Given the description of an element on the screen output the (x, y) to click on. 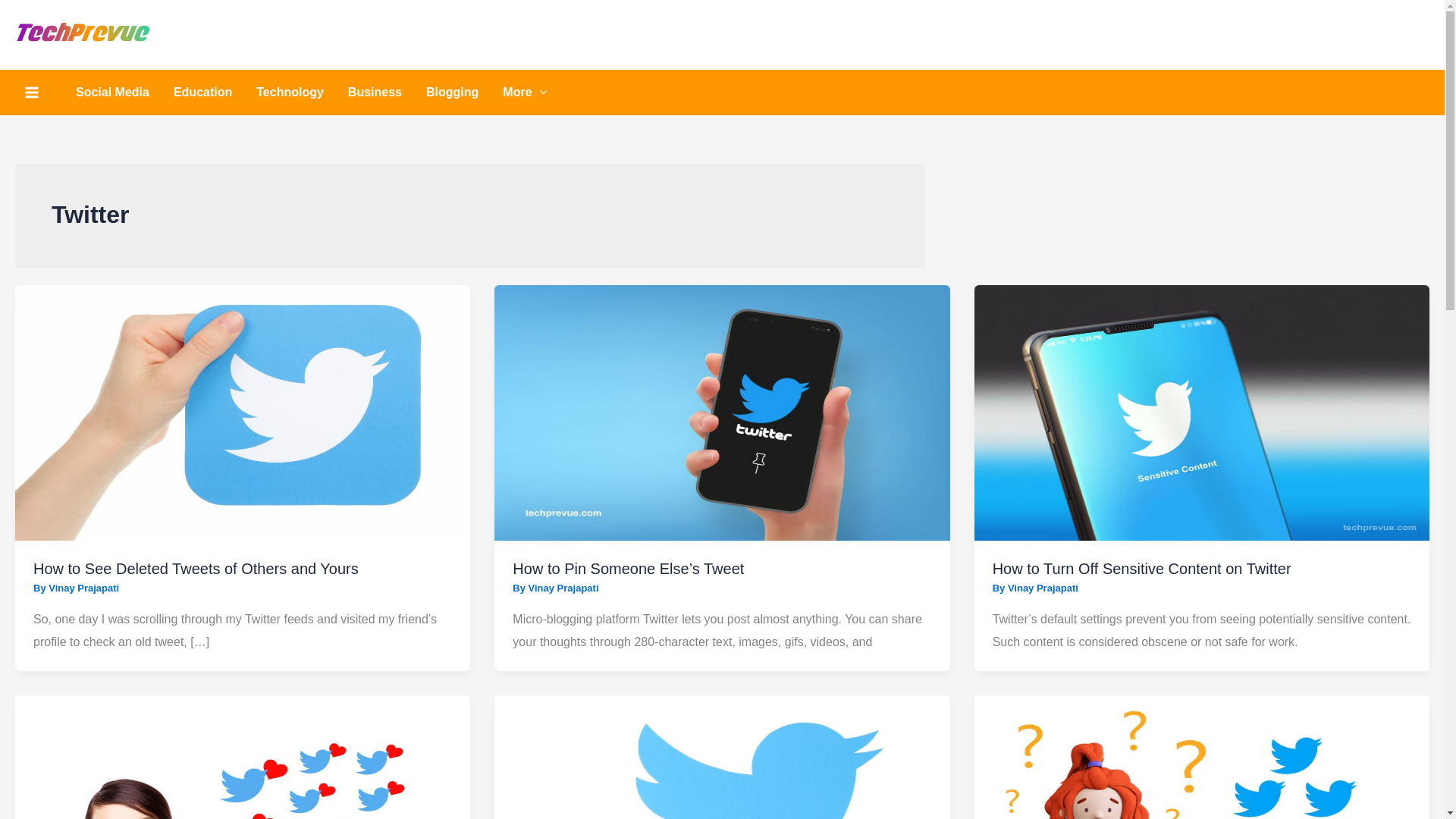
View all posts by Vinay Prajapati (1042, 587)
More (524, 92)
View all posts by Vinay Prajapati (563, 587)
Business (374, 92)
How to See Deleted Tweets of Others and Yours (195, 568)
Blogging (451, 92)
Social Media (112, 92)
View all posts by Vinay Prajapati (83, 587)
Vinay Prajapati (83, 587)
Education (202, 92)
Technology (290, 92)
